Given the description of an element on the screen output the (x, y) to click on. 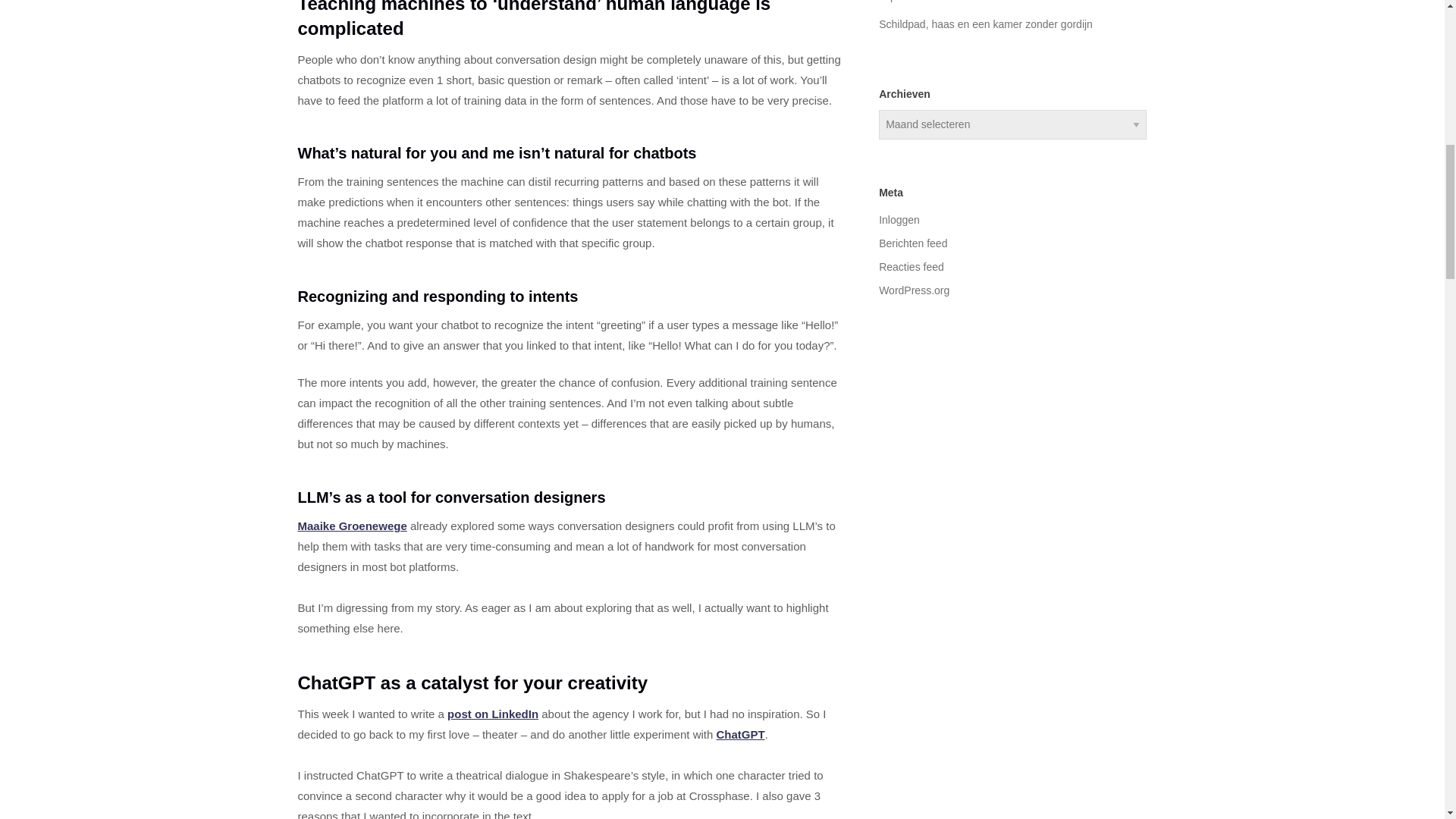
Maaike Groenewege (351, 525)
ChatGPT (740, 734)
post on LinkedIn (492, 713)
